Given the description of an element on the screen output the (x, y) to click on. 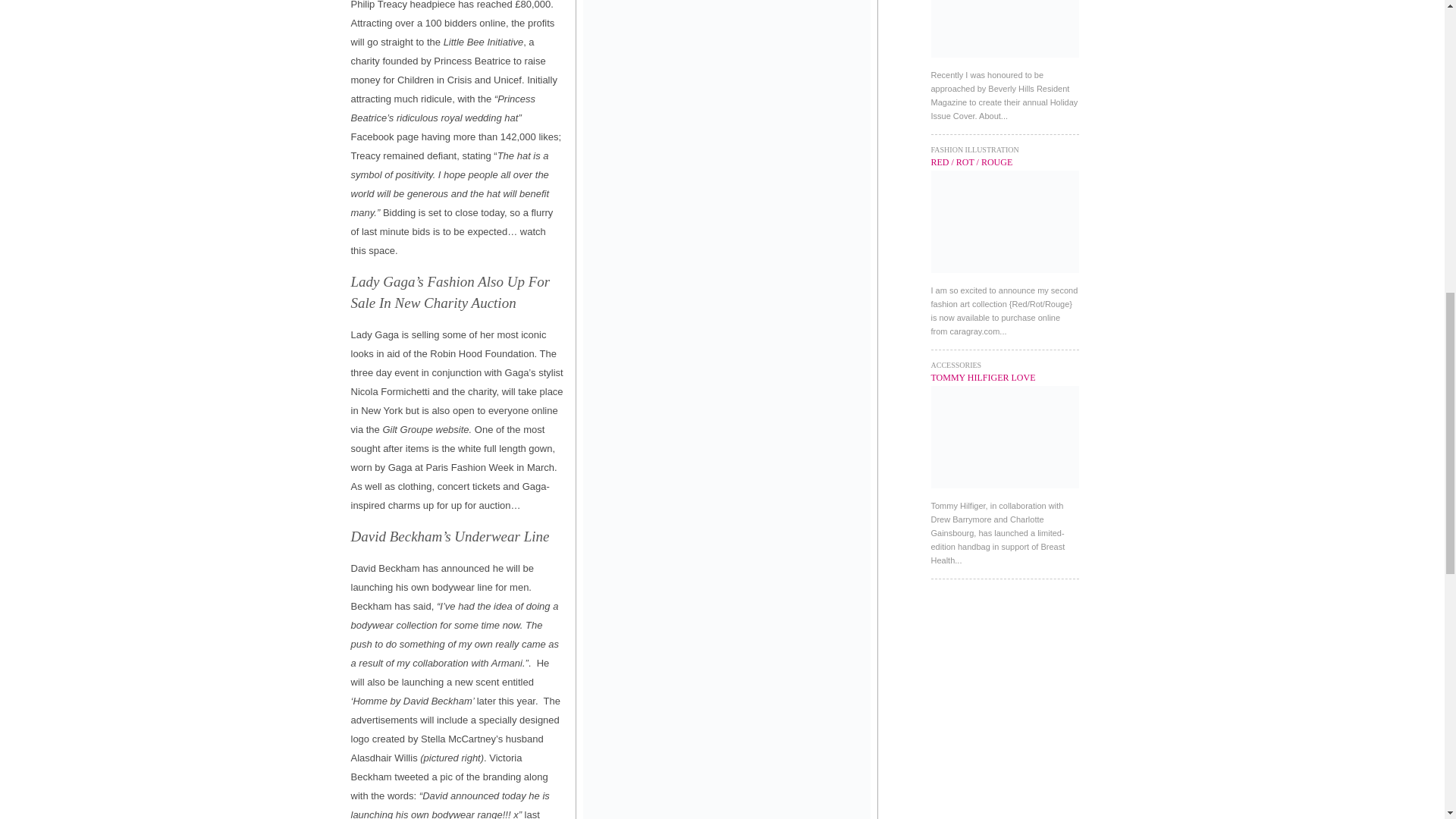
Tommy Hilfiger Love (983, 377)
Tommy Hilfiger Love (1004, 492)
Beverly Hills Resident Magazine (1004, 61)
